Given the description of an element on the screen output the (x, y) to click on. 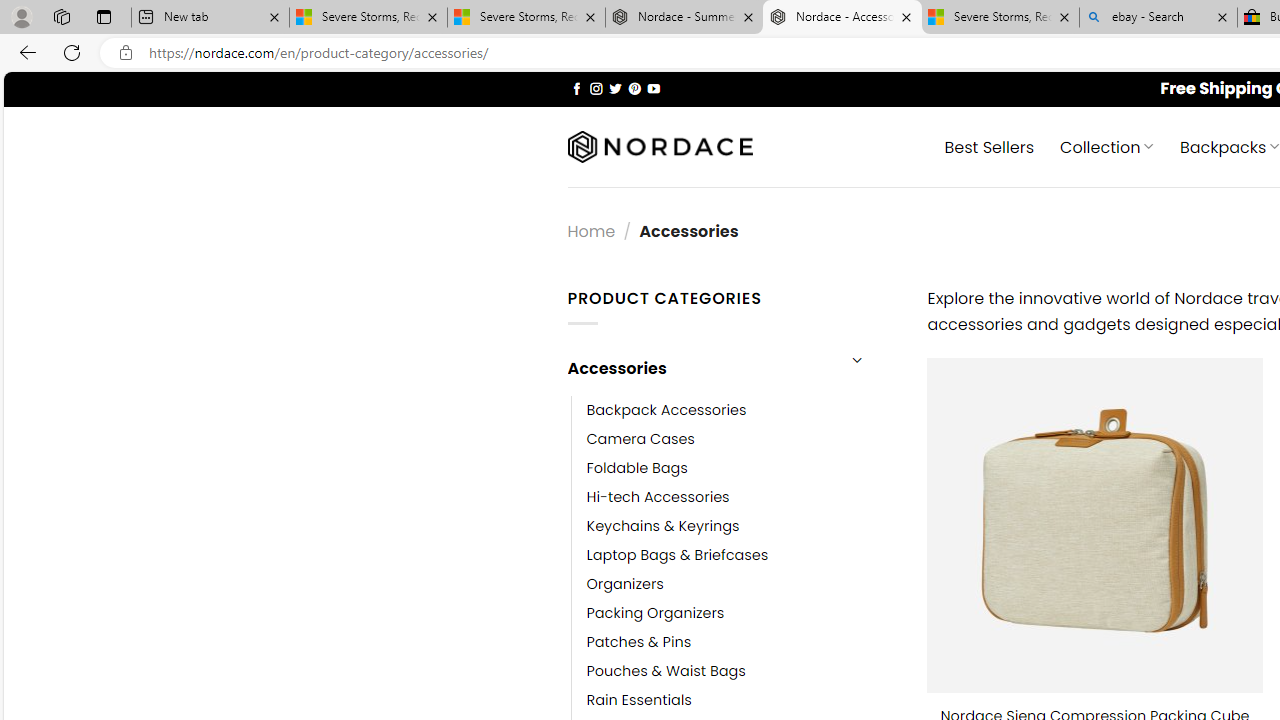
Camera Cases (742, 439)
Hi-tech Accessories (657, 496)
Backpack Accessories (666, 409)
Keychains & Keyrings (742, 526)
Accessories (700, 368)
  Best Sellers (989, 146)
